Given the description of an element on the screen output the (x, y) to click on. 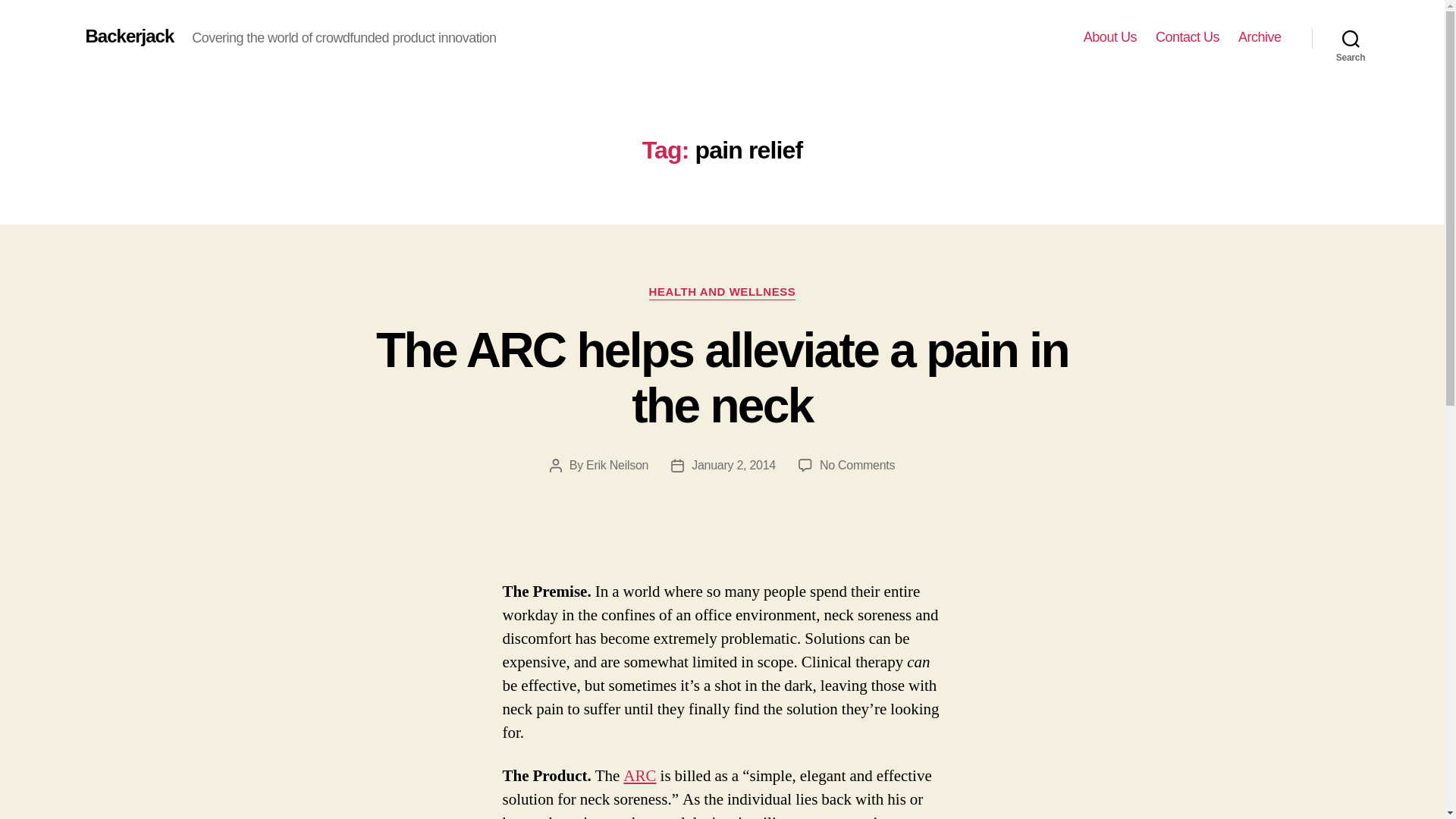
About Us (1110, 37)
Erik Neilson (616, 464)
Search (1350, 37)
HEALTH AND WELLNESS (722, 292)
Backerjack (128, 36)
ARC (639, 775)
Contact Us (1188, 37)
January 2, 2014 (733, 464)
The ARC helps alleviate a pain in the neck (721, 377)
Archive (1260, 37)
